Given the description of an element on the screen output the (x, y) to click on. 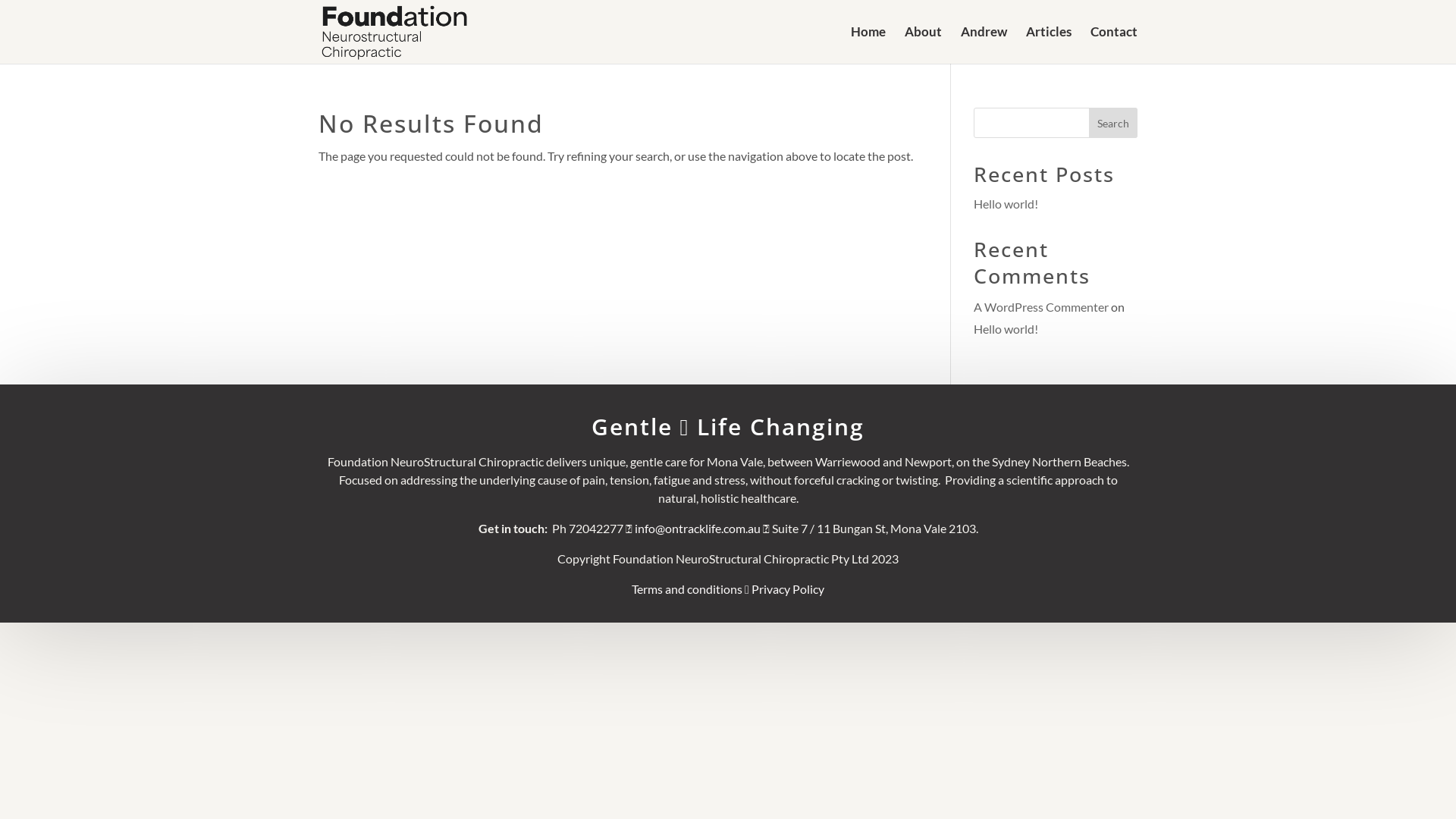
Home Element type: text (867, 44)
Andrew Element type: text (983, 44)
Hello world! Element type: text (1005, 203)
info@ontracklife.com.au Element type: text (697, 527)
A WordPress Commenter Element type: text (1040, 306)
Search Element type: text (1112, 122)
Hello world! Element type: text (1005, 328)
Articles Element type: text (1048, 44)
Contact Element type: text (1113, 44)
About Element type: text (922, 44)
